Given the description of an element on the screen output the (x, y) to click on. 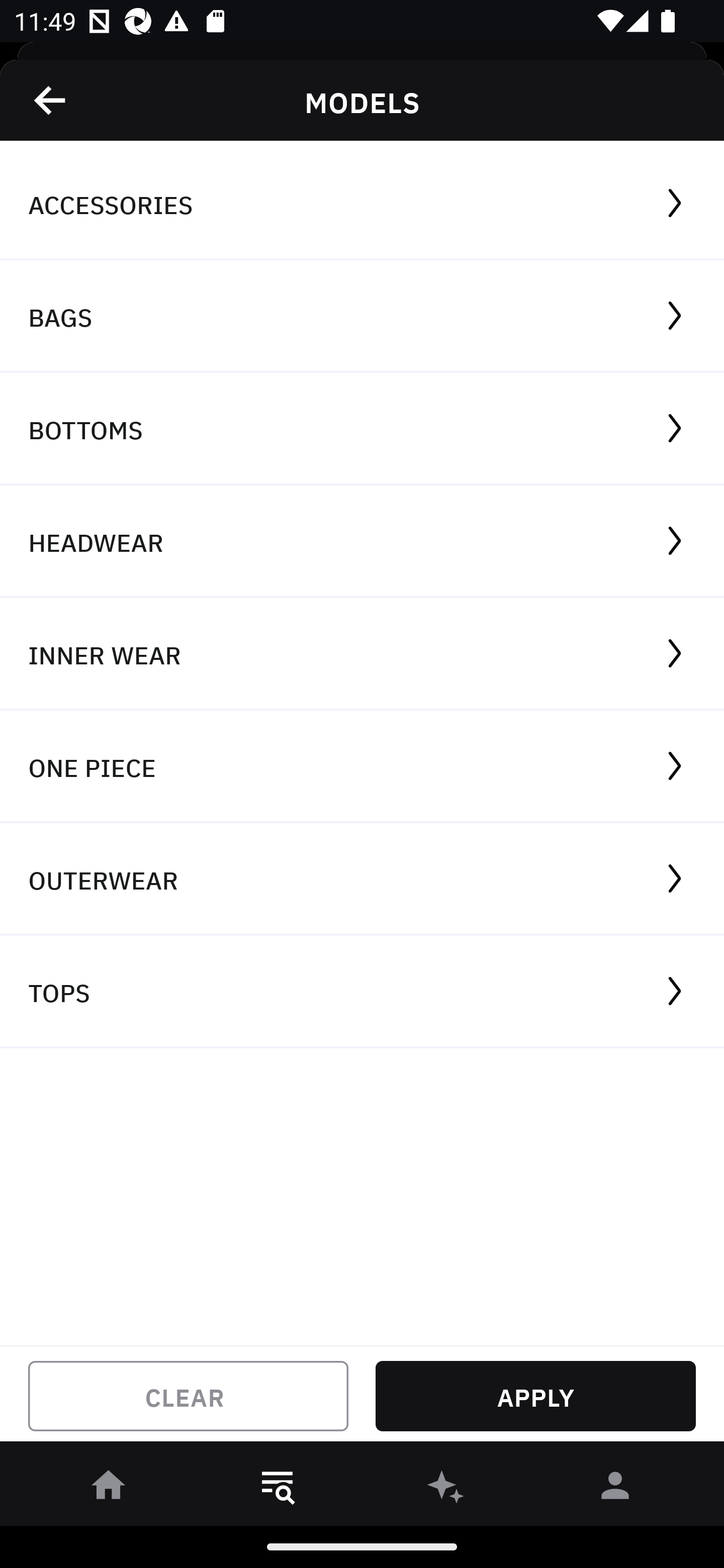
 (50, 100)
ACCESSORIES (362, 203)
BAGS (362, 316)
BOTTOMS (362, 429)
HEADWEAR (362, 541)
INNER WEAR (362, 653)
ONE PIECE (362, 766)
OUTERWEAR (362, 879)
TOPS (362, 992)
CLEAR  (188, 1396)
APPLY (535, 1396)
󰋜 (108, 1488)
󱎸 (277, 1488)
󰫢 (446, 1488)
󰀄 (615, 1488)
